Given the description of an element on the screen output the (x, y) to click on. 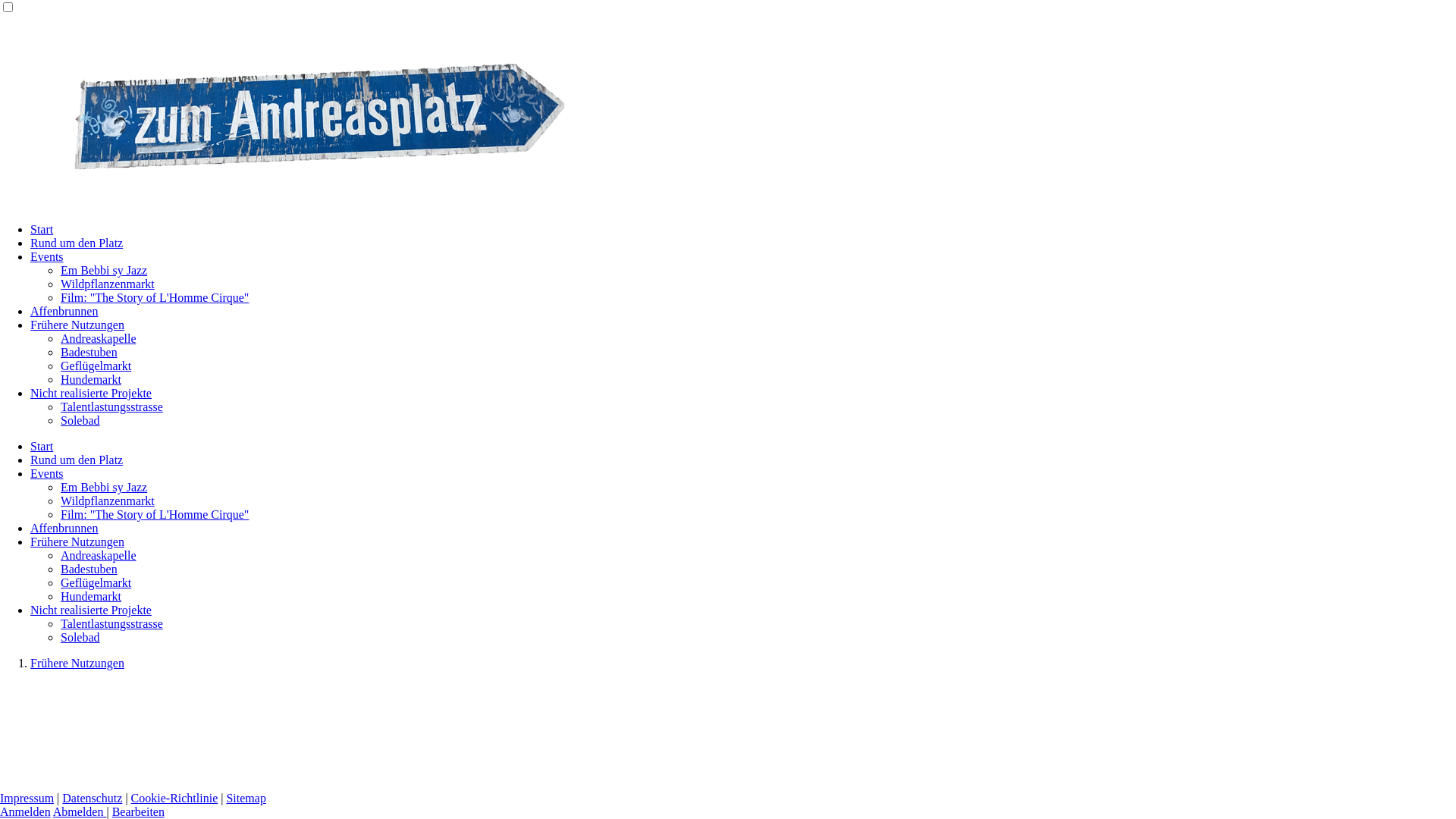
Nicht realisierte Projekte Element type: text (90, 609)
Events Element type: text (46, 473)
Solebad Element type: text (80, 420)
Wildpflanzenmarkt Element type: text (107, 283)
Sitemap Element type: text (245, 797)
Hundemarkt Element type: text (90, 379)
Rund um den Platz Element type: text (76, 242)
Badestuben Element type: text (88, 351)
Talentlastungsstrasse Element type: text (111, 623)
Rund um den Platz Element type: text (76, 459)
Andreaskapelle Element type: text (98, 555)
Hundemarkt Element type: text (90, 595)
Anmelden Element type: text (25, 811)
Cookie-Richtlinie Element type: text (174, 797)
Start Element type: text (41, 228)
Badestuben Element type: text (88, 568)
Talentlastungsstrasse Element type: text (111, 406)
Affenbrunnen Element type: text (63, 310)
Events Element type: text (46, 256)
Em Bebbi sy Jazz Element type: text (103, 269)
Nicht realisierte Projekte Element type: text (90, 392)
Andreaskapelle Element type: text (98, 338)
Solebad Element type: text (80, 636)
Film: "The Story of L'Homme Cirque" Element type: text (154, 297)
Em Bebbi sy Jazz Element type: text (103, 486)
Datenschutz Element type: text (92, 797)
Wildpflanzenmarkt Element type: text (107, 500)
Start Element type: text (41, 445)
Bearbeiten Element type: text (138, 811)
Affenbrunnen Element type: text (63, 527)
Impressum Element type: text (26, 797)
Abmelden Element type: text (79, 811)
Film: "The Story of L'Homme Cirque" Element type: text (154, 514)
